Given the description of an element on the screen output the (x, y) to click on. 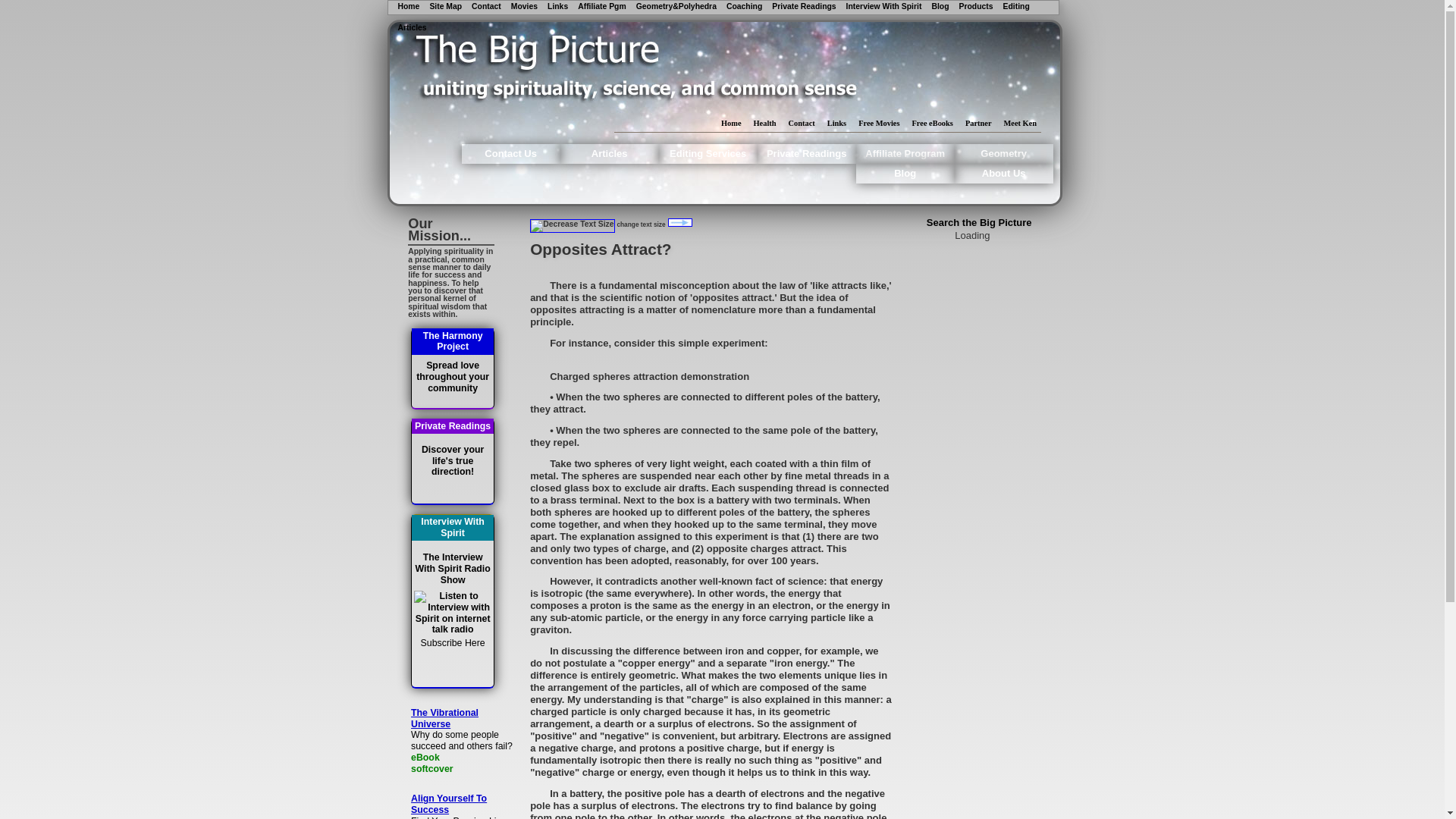
Coaching (743, 6)
Private Readings (803, 6)
Editing Services (708, 153)
Contact (485, 6)
Free eBooks (931, 123)
softcover (464, 768)
Blog (905, 173)
Interview With Spirit (883, 6)
Spread love throughout your community (452, 376)
Affiliate Program (905, 153)
